Given the description of an element on the screen output the (x, y) to click on. 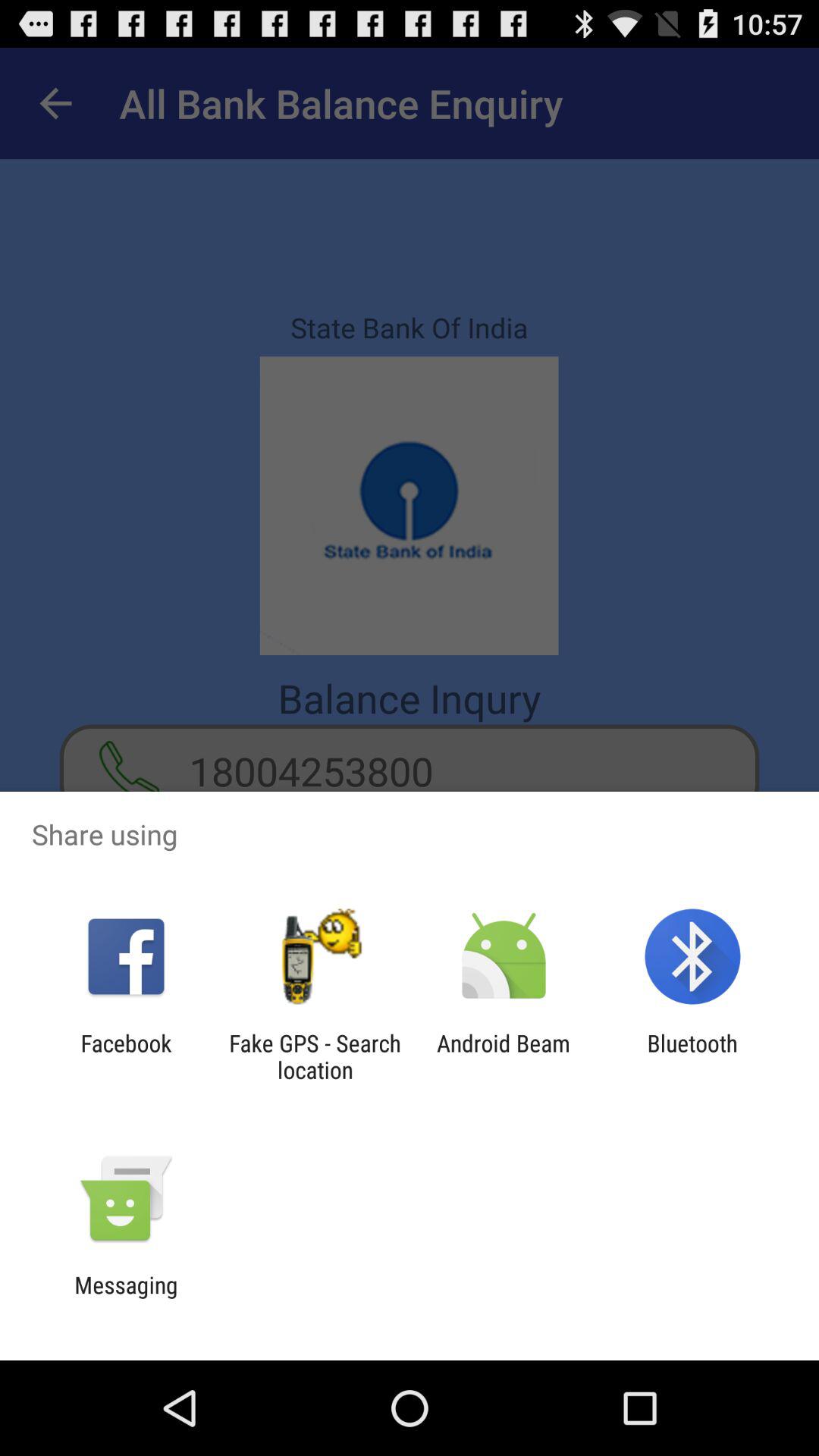
turn off the app to the right of the fake gps search item (503, 1056)
